Given the description of an element on the screen output the (x, y) to click on. 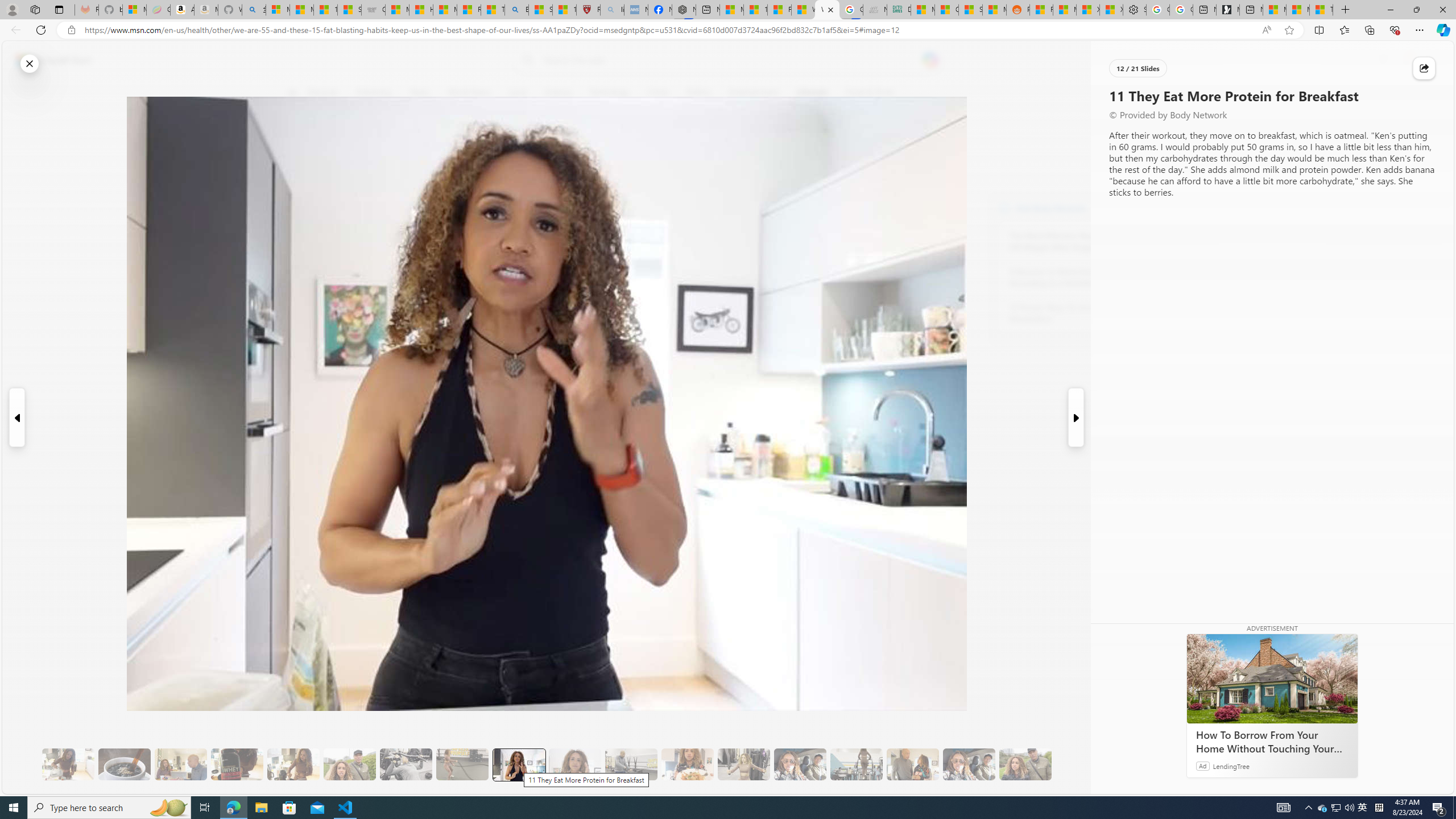
3 They Drink Lemon Tea (68, 764)
18 It's More Fun Doing It with Someone Else (912, 764)
LendingTree (1231, 765)
15 They Also Indulge in a Low-Calorie Sweet Treat (743, 764)
6 (299, 170)
